Given the description of an element on the screen output the (x, y) to click on. 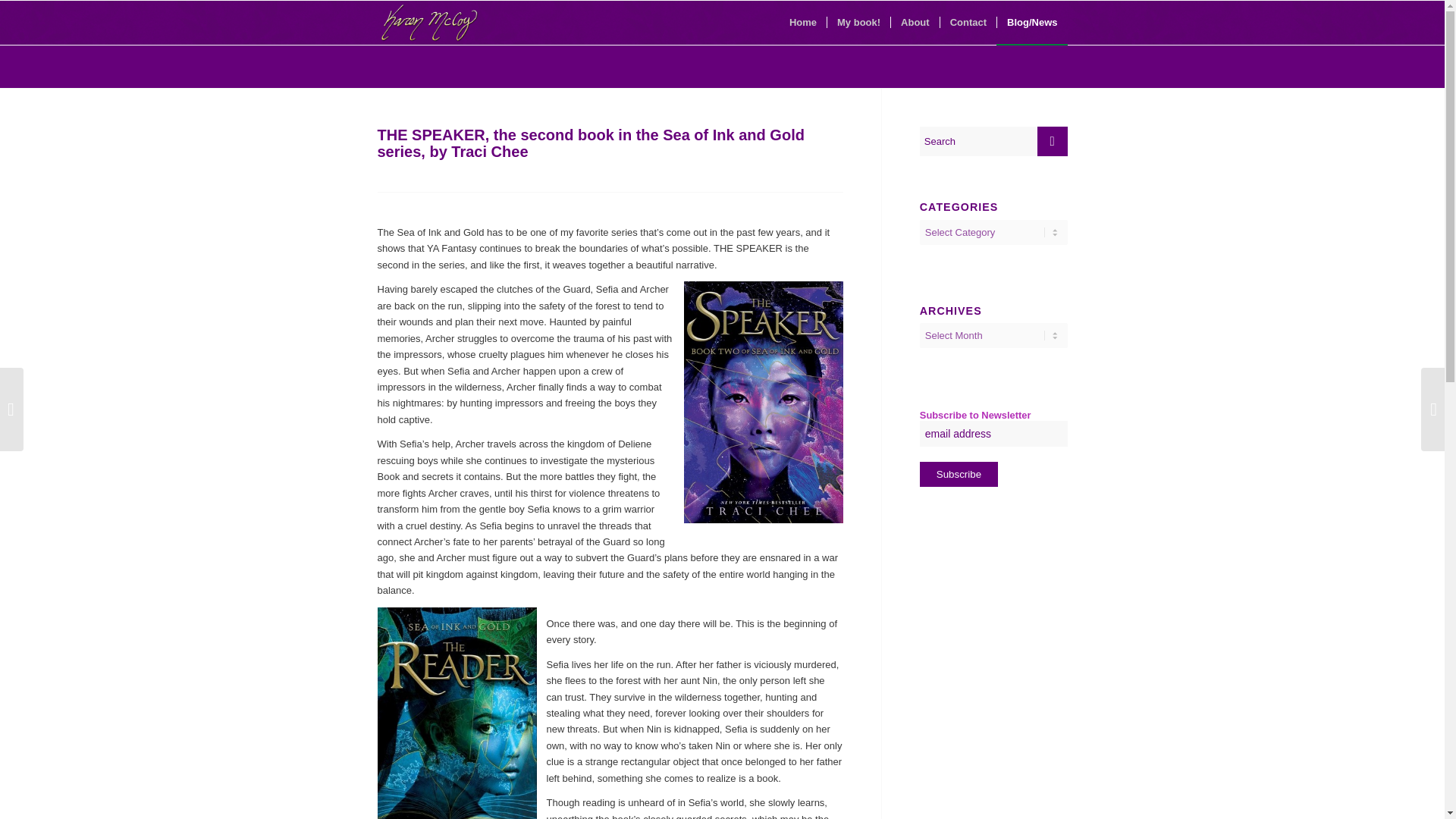
My book! (858, 22)
Subscribe (958, 473)
Subscribe (958, 473)
Contact (967, 22)
Home (802, 22)
About (914, 22)
